Given the description of an element on the screen output the (x, y) to click on. 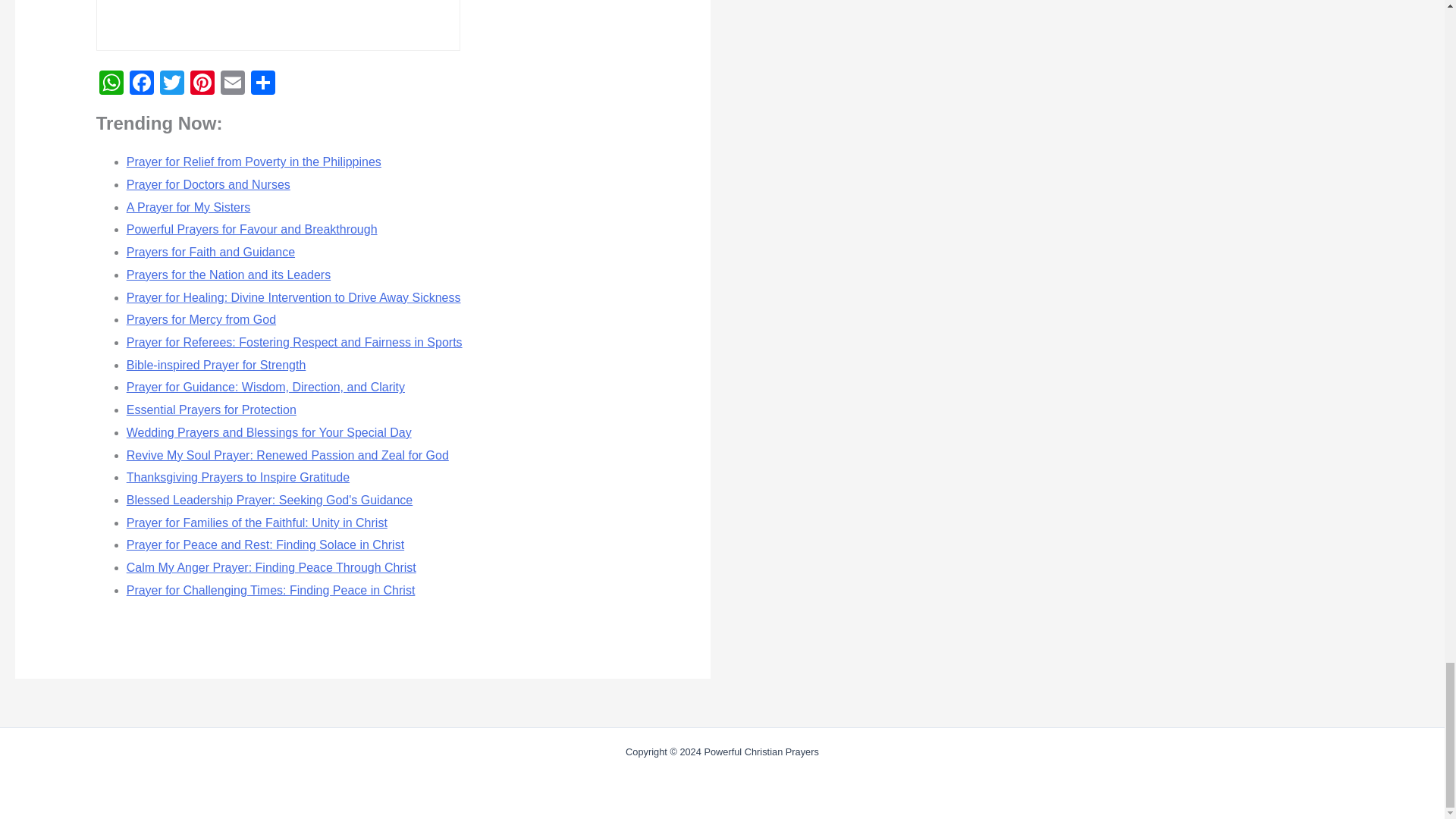
Bible-inspired Prayer for Strength (215, 364)
Twitter (172, 84)
Prayer for Relief from Poverty in the Philippines (253, 161)
Email (231, 84)
Facebook (141, 84)
Facebook (141, 84)
Powerful Prayers for Favour and Breakthrough (251, 228)
Twitter (172, 84)
Pinterest (201, 84)
